Given the description of an element on the screen output the (x, y) to click on. 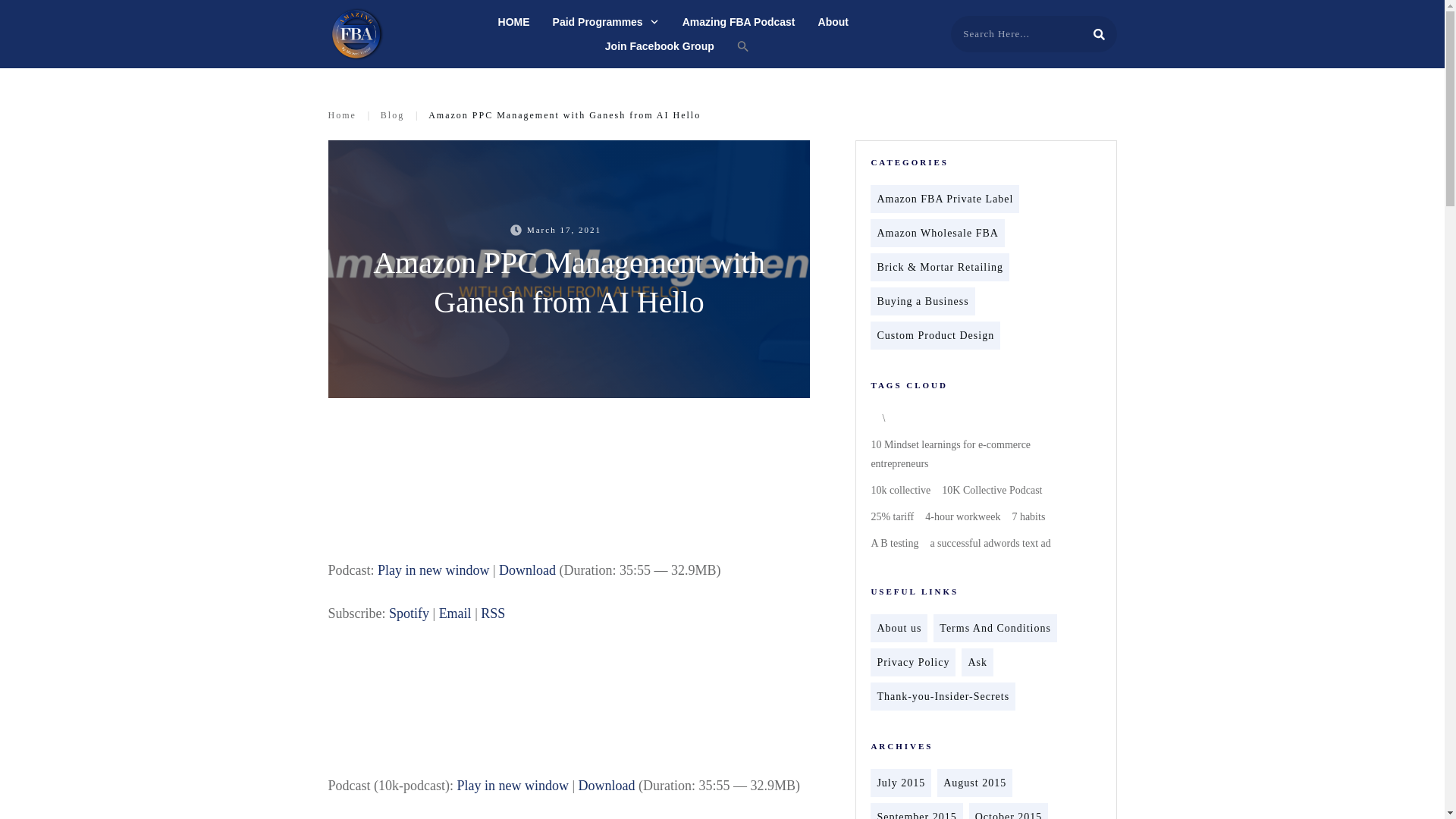
Play in new window (433, 570)
Paid Programmes (606, 21)
Blubrry Podcast Player (568, 706)
Blog (392, 115)
Spotify (408, 612)
Join Facebook Group (659, 46)
Download (606, 785)
Home (341, 115)
Amazing FBA Podcast (738, 21)
Subscribe via RSS (492, 612)
Download (527, 570)
Play in new window (513, 785)
Play in new window (433, 570)
Download (527, 570)
Subscribe by Email (455, 612)
